Given the description of an element on the screen output the (x, y) to click on. 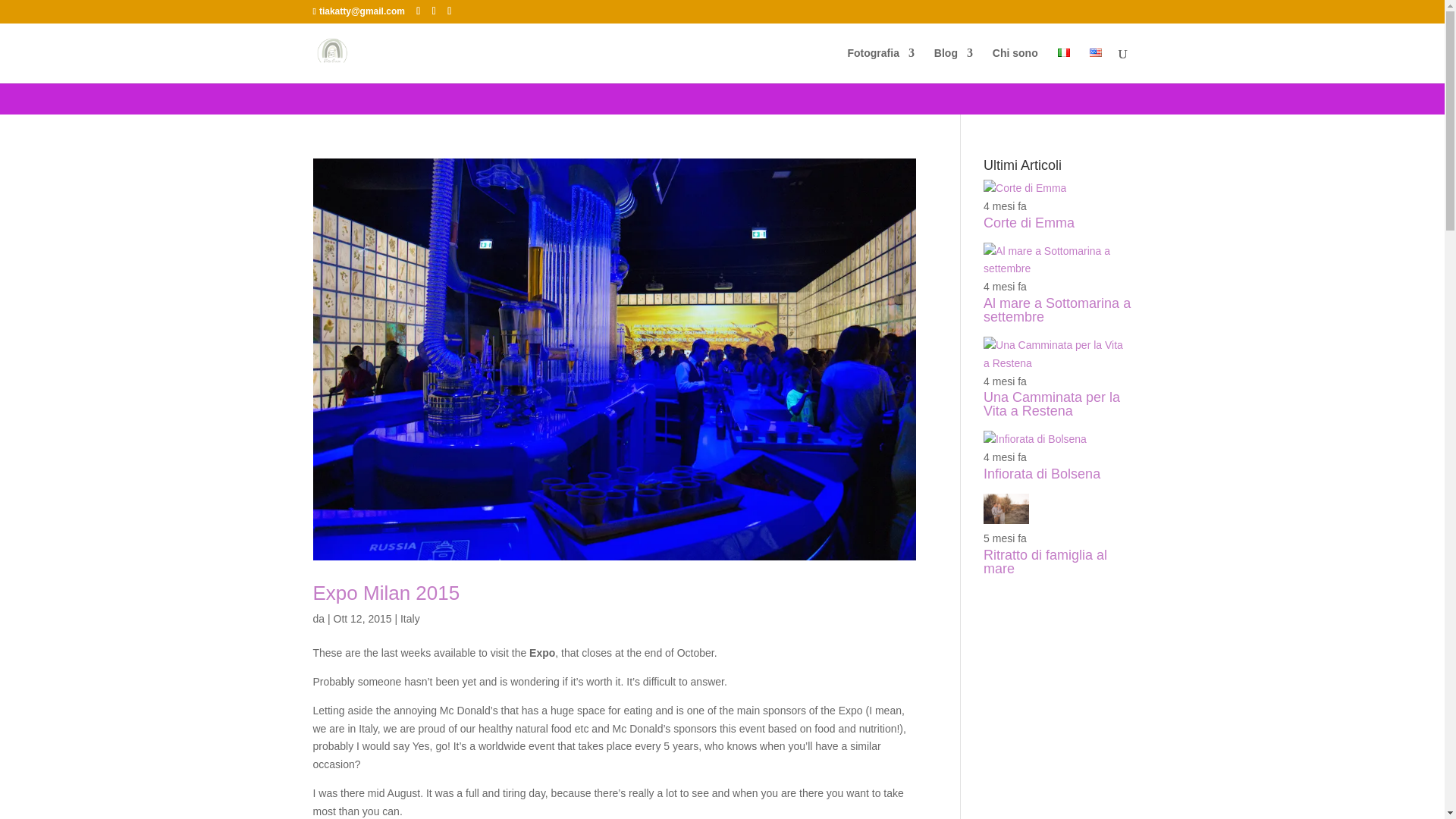
Corte di Emma (1029, 222)
Corte di Emma (1024, 187)
Blog (953, 65)
Chi sono (1015, 65)
Fotografia (880, 65)
